Given the description of an element on the screen output the (x, y) to click on. 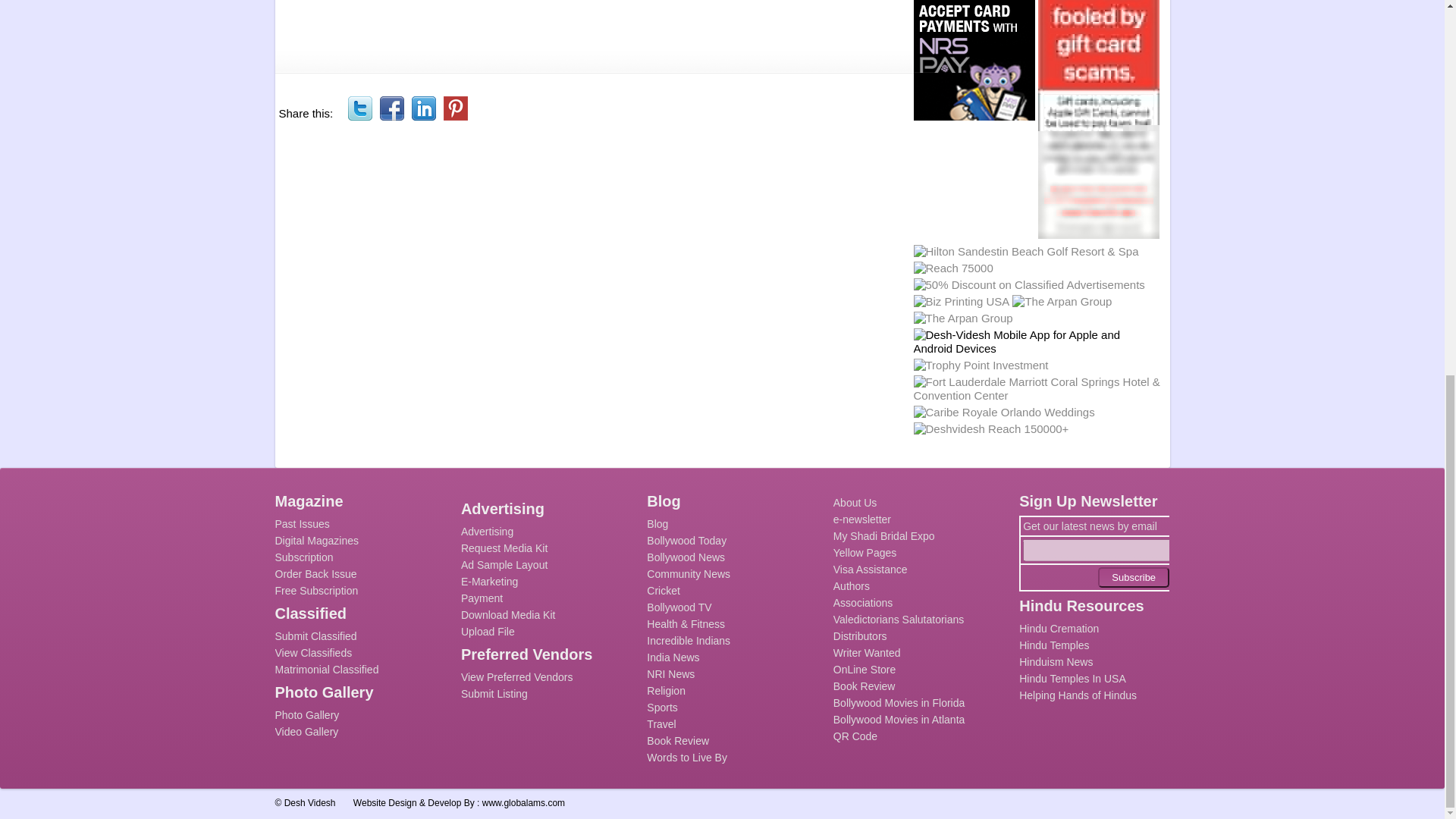
LinkedIn (423, 108)
Pinterest (455, 108)
Facebook (392, 108)
Subscribe (1133, 577)
Twitter (359, 108)
